Given the description of an element on the screen output the (x, y) to click on. 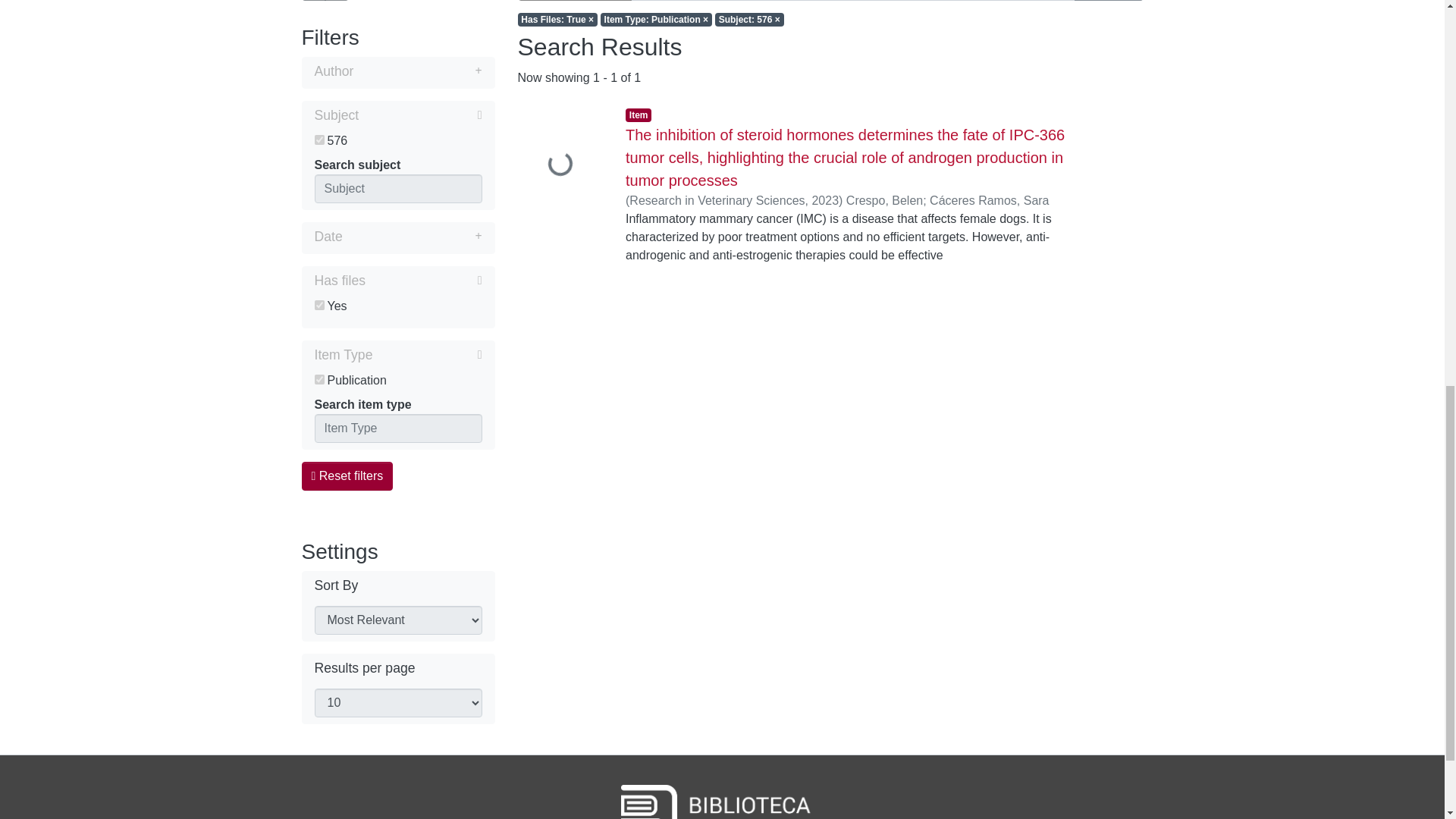
Collapse filter (423, 280)
Author (397, 72)
Collapse filter (419, 115)
Collapse filter (426, 354)
on (318, 379)
Expand filter (417, 71)
on (318, 305)
Expand filter (411, 236)
on (318, 139)
